Given the description of an element on the screen output the (x, y) to click on. 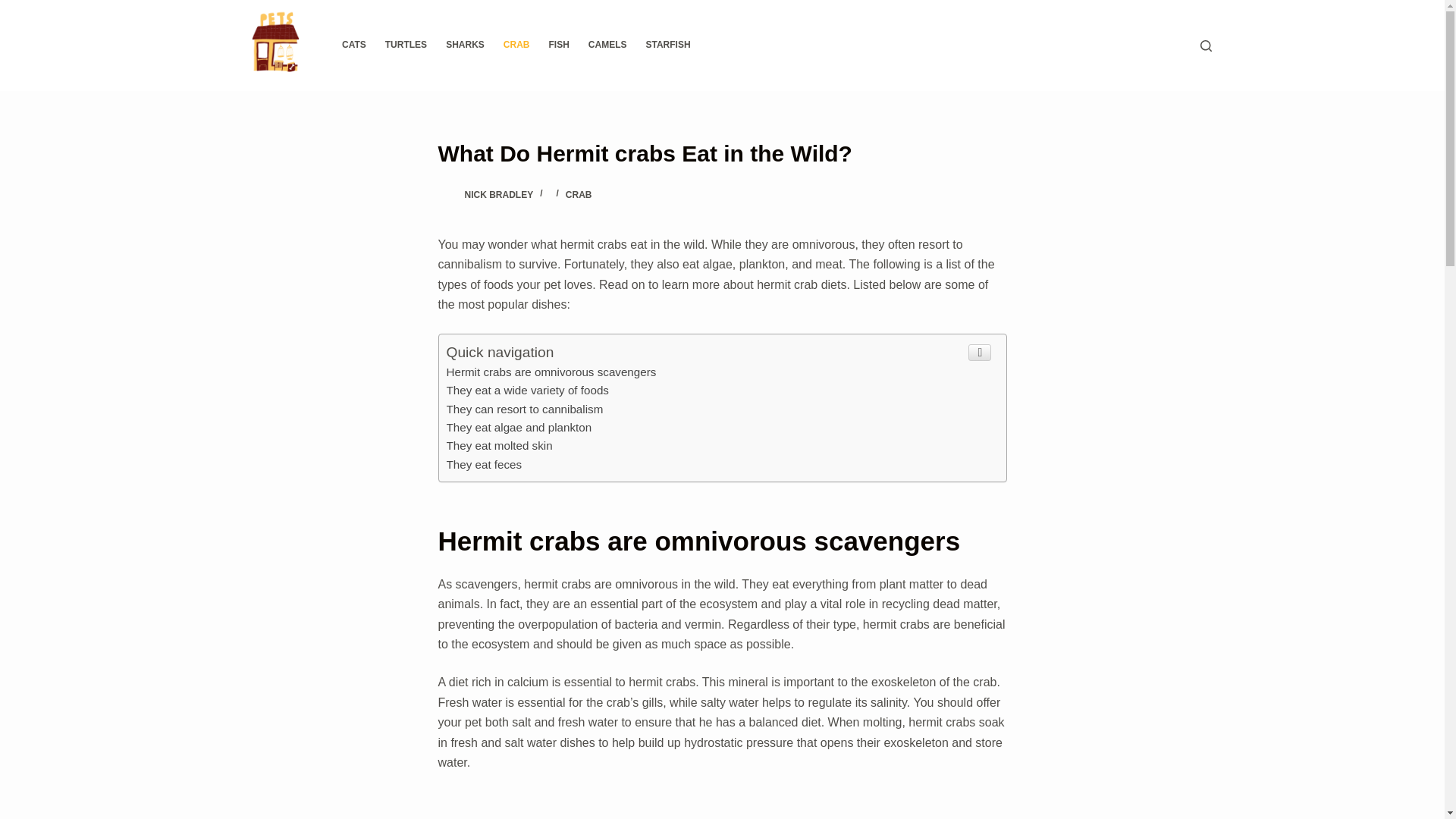
NICK BRADLEY (498, 194)
Hermit crabs are omnivorous scavengers (550, 371)
Skip to content (15, 7)
They eat a wide variety of foods (526, 390)
Posts by Nick Bradley (498, 194)
They can resort to cannibalism (523, 408)
What Do Hermit crabs Eat in the Wild? (722, 153)
They eat a wide variety of foods (526, 390)
They can resort to cannibalism (523, 408)
They eat feces (483, 463)
